Given the description of an element on the screen output the (x, y) to click on. 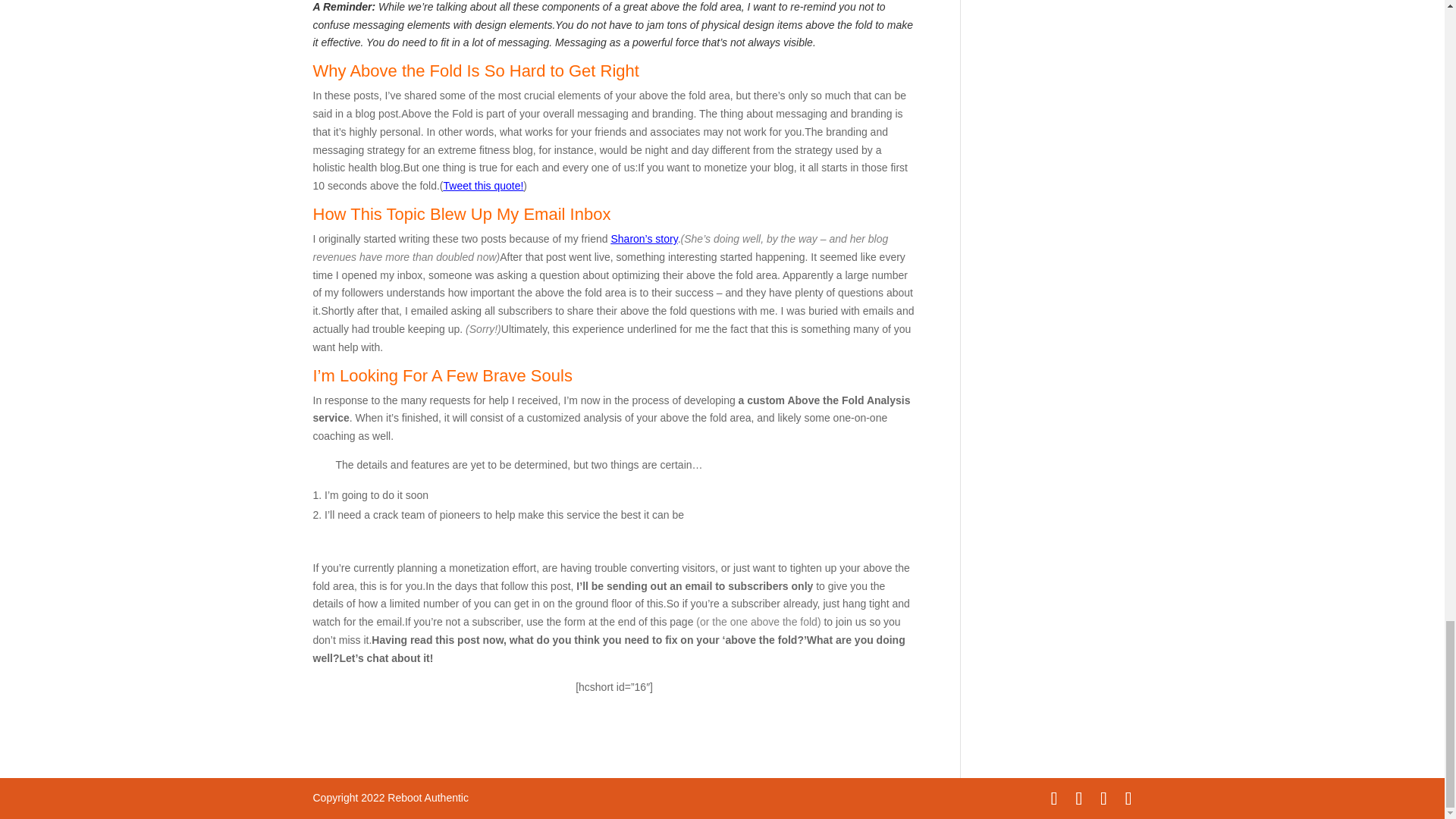
Tweet this quote! (484, 185)
Tweet this quote! (484, 185)
One Simple Thing You Can Do to Monetize Your Blog Today (643, 238)
